Given the description of an element on the screen output the (x, y) to click on. 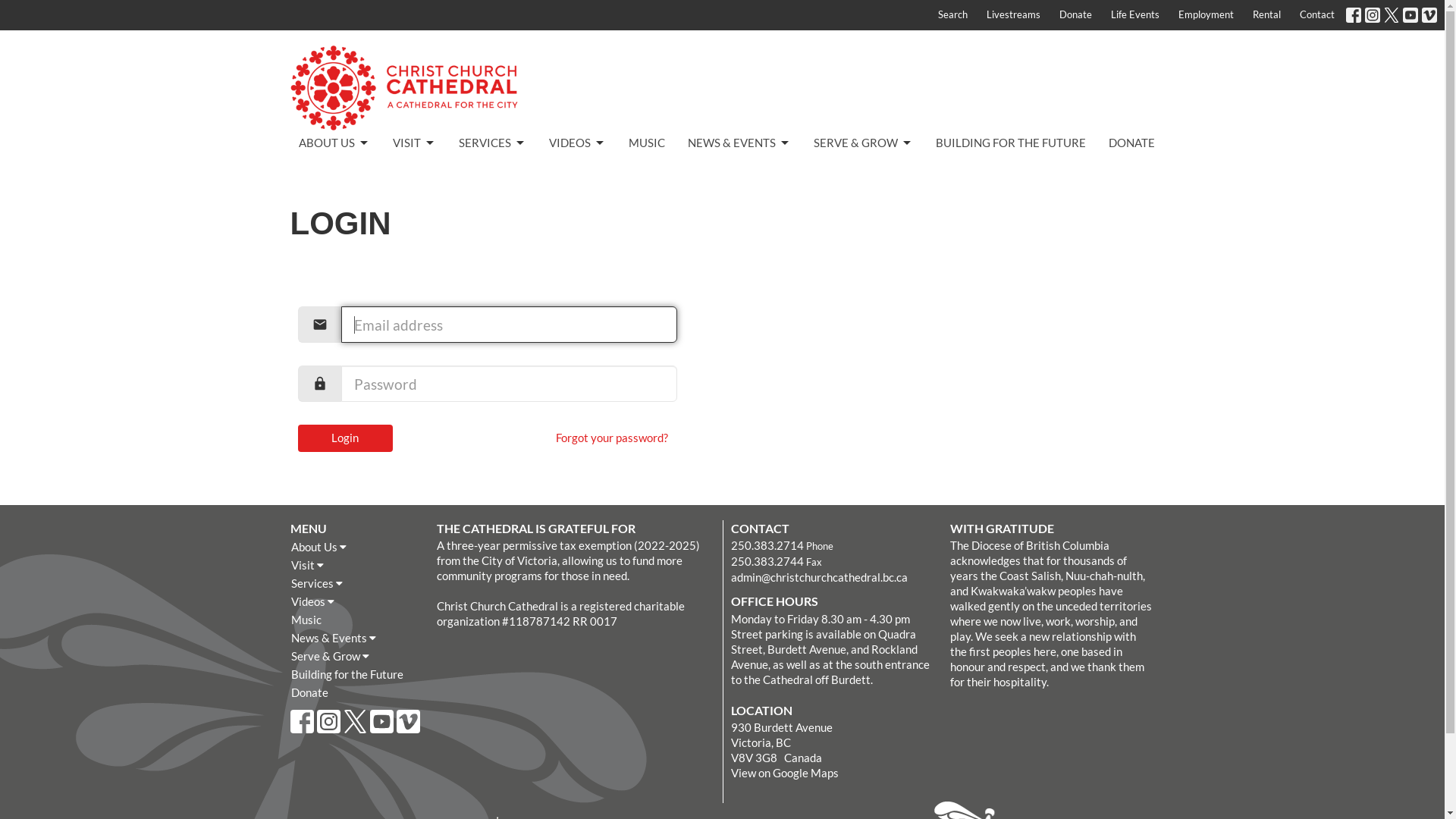
Videos Element type: text (354, 601)
Contact Element type: text (1317, 14)
Life Events Element type: text (1135, 14)
Livestreams Element type: text (1013, 14)
Music Element type: text (354, 619)
Login Element type: text (344, 437)
SERVE & GROW Element type: text (862, 142)
News & Events Element type: text (354, 637)
Forgot your password? Element type: text (611, 437)
ABOUT US Element type: text (334, 142)
250.383.2714 Element type: text (767, 545)
NEWS & EVENTS Element type: text (738, 142)
DONATE Element type: text (1131, 142)
SERVICES Element type: text (491, 142)
Rental Element type: text (1266, 14)
Employment Element type: text (1205, 14)
VIDEOS Element type: text (577, 142)
View on Google Maps Element type: text (784, 772)
Visit Element type: text (354, 564)
Serve & Grow Element type: text (354, 655)
Donate Element type: text (1075, 14)
admin@christchurchcathedral.bc.ca Element type: text (819, 576)
Building for the Future Element type: text (354, 674)
About Us Element type: text (354, 546)
VISIT Element type: text (414, 142)
Donate Element type: text (354, 692)
Search Element type: text (952, 14)
BUILDING FOR THE FUTURE Element type: text (1010, 142)
Services Element type: text (354, 583)
MUSIC Element type: text (645, 142)
